Given the description of an element on the screen output the (x, y) to click on. 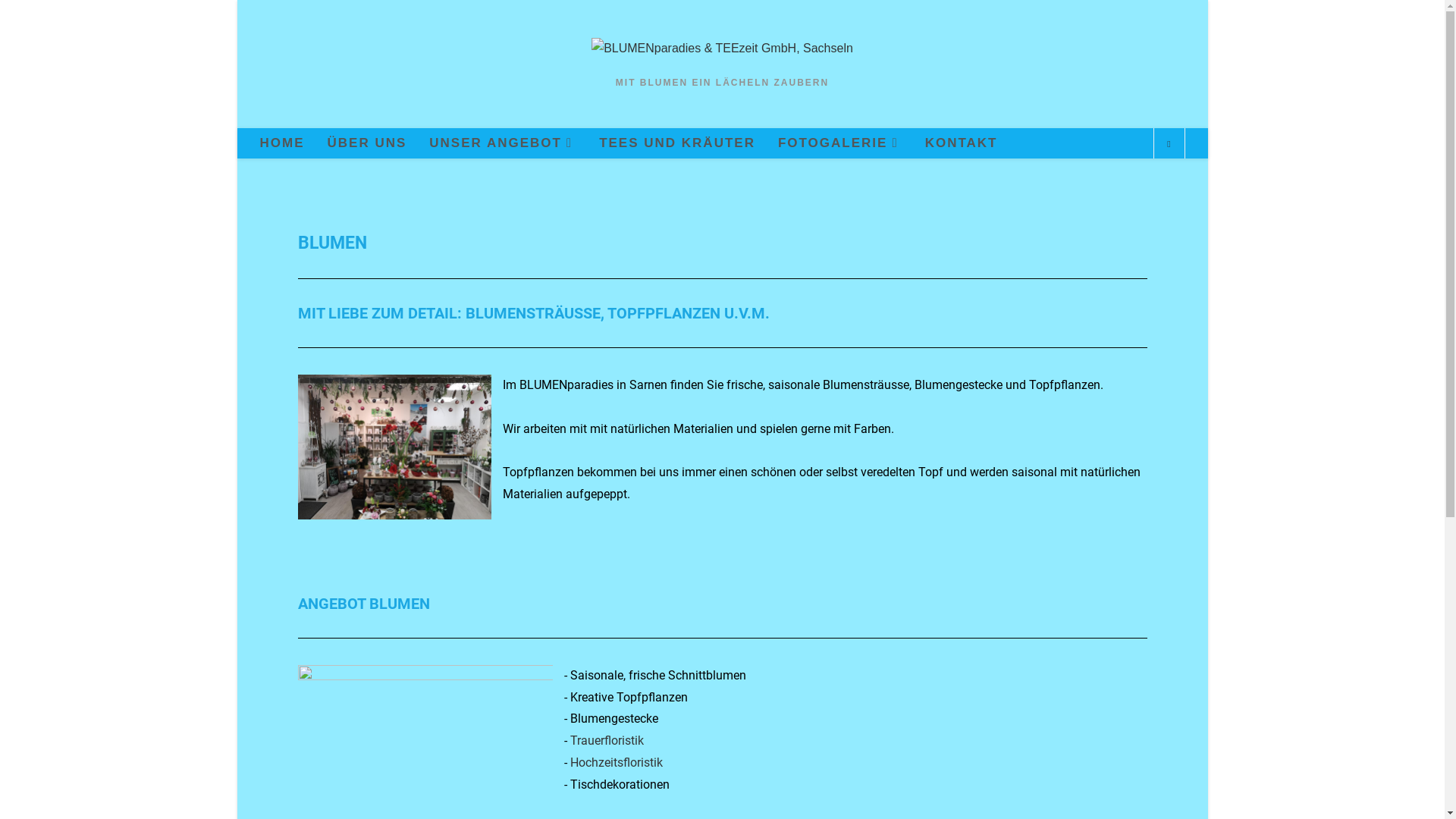
FOTOGALERIE Element type: text (839, 143)
UNSER ANGEBOT Element type: text (502, 143)
KONTAKT Element type: text (961, 143)
Trauerfloristik Element type: text (606, 740)
K1024_1 Element type: hover (393, 446)
HOME Element type: text (282, 143)
Hochzeitsfloristik Element type: text (616, 762)
